Given the description of an element on the screen output the (x, y) to click on. 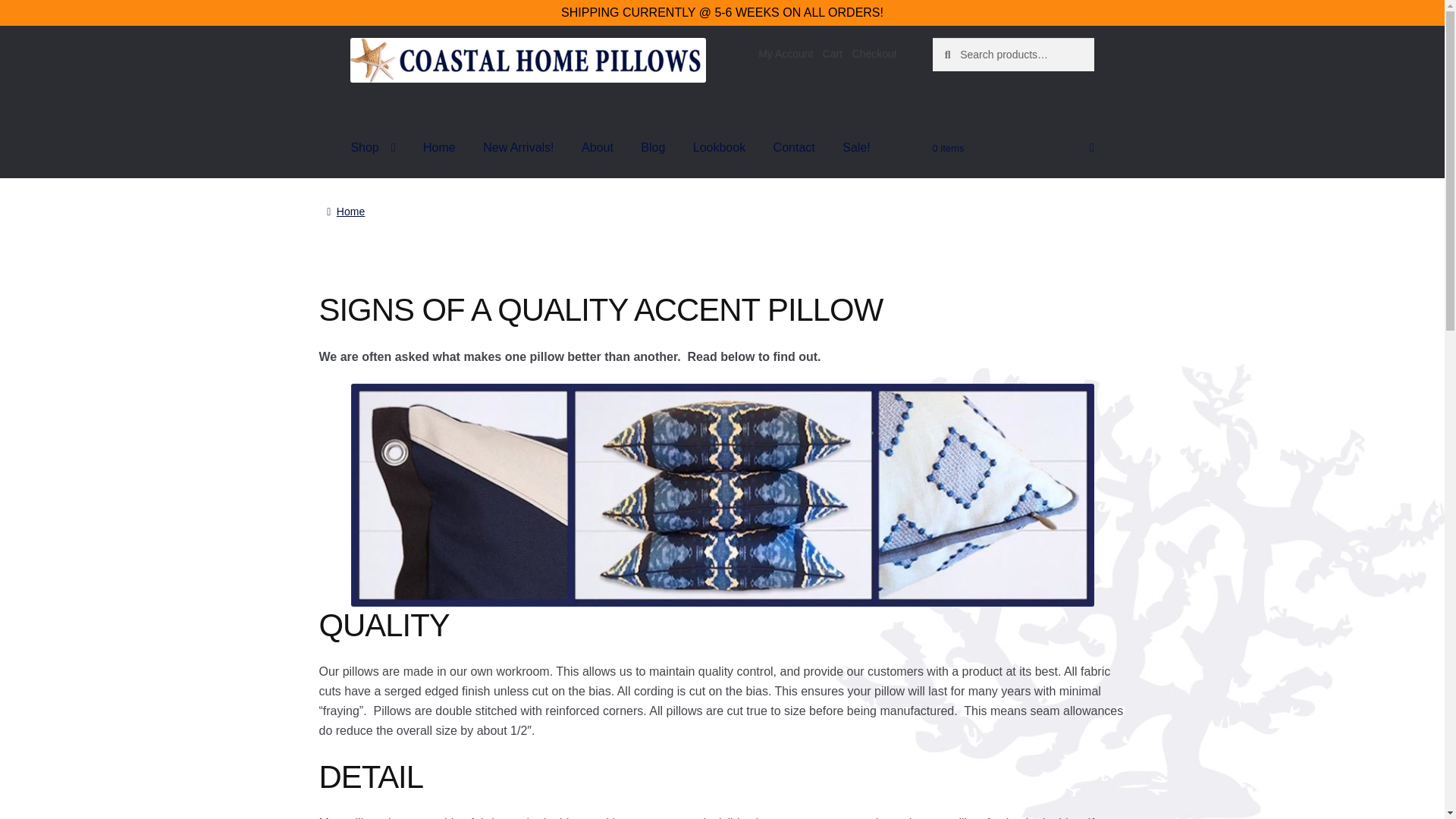
Lookbook (719, 147)
Home (438, 147)
Checkout (873, 53)
Contact (794, 147)
My Account (785, 53)
Home (345, 211)
0 items (1013, 147)
About (597, 147)
New Arrivals! (518, 147)
View your shopping cart (1013, 147)
Shop (372, 147)
